Given the description of an element on the screen output the (x, y) to click on. 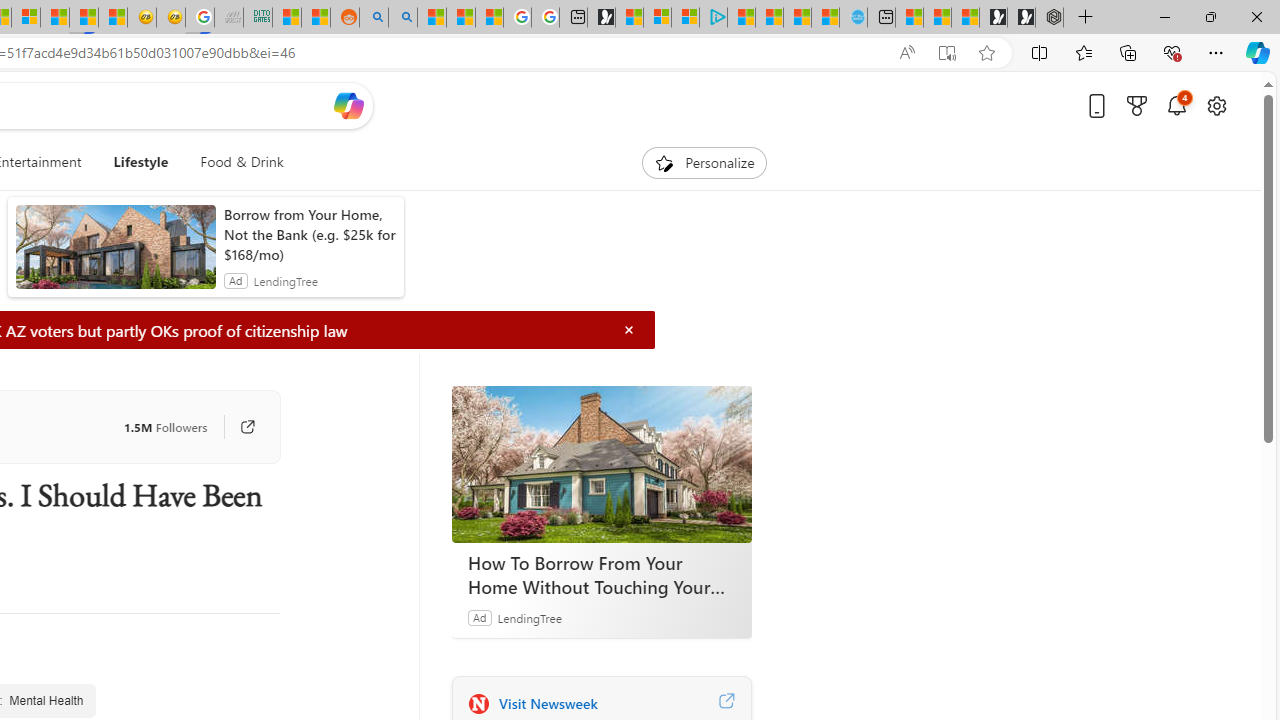
Newsweek (478, 703)
To get missing image descriptions, open the context menu. (664, 162)
Enter Immersive Reader (F9) (946, 53)
Home | Sky Blue Bikes - Sky Blue Bikes (852, 17)
Utah sues federal government - Search (403, 17)
Food & Drink (241, 162)
Notifications (1176, 105)
Go to publisher's site (237, 426)
Play Free Online Games | Games from Microsoft Start (1021, 17)
